Given the description of an element on the screen output the (x, y) to click on. 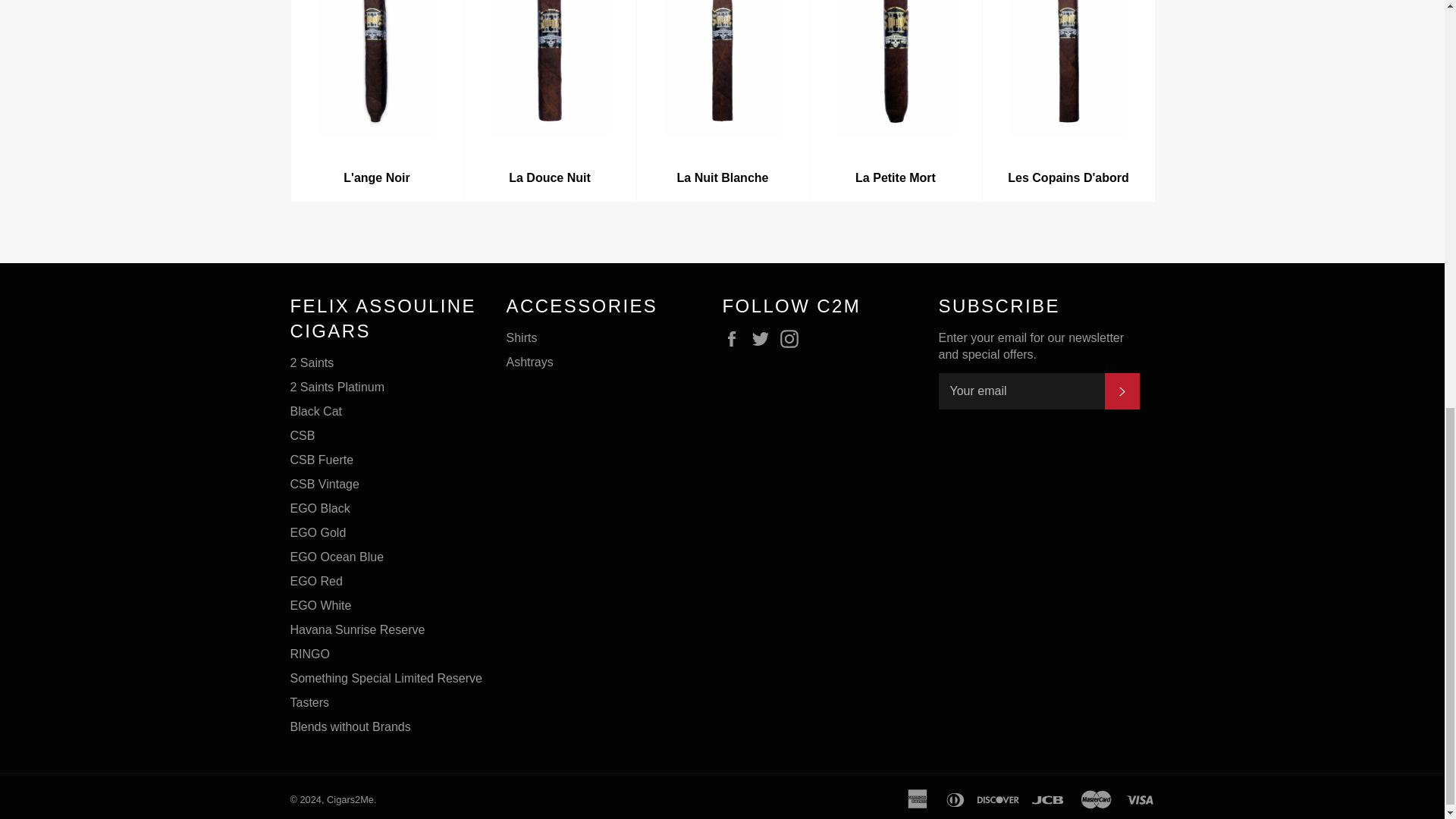
Cigars2Me on Instagram (793, 339)
Cigars2Me on Twitter (764, 339)
Cigars2Me on Facebook (735, 339)
